Given the description of an element on the screen output the (x, y) to click on. 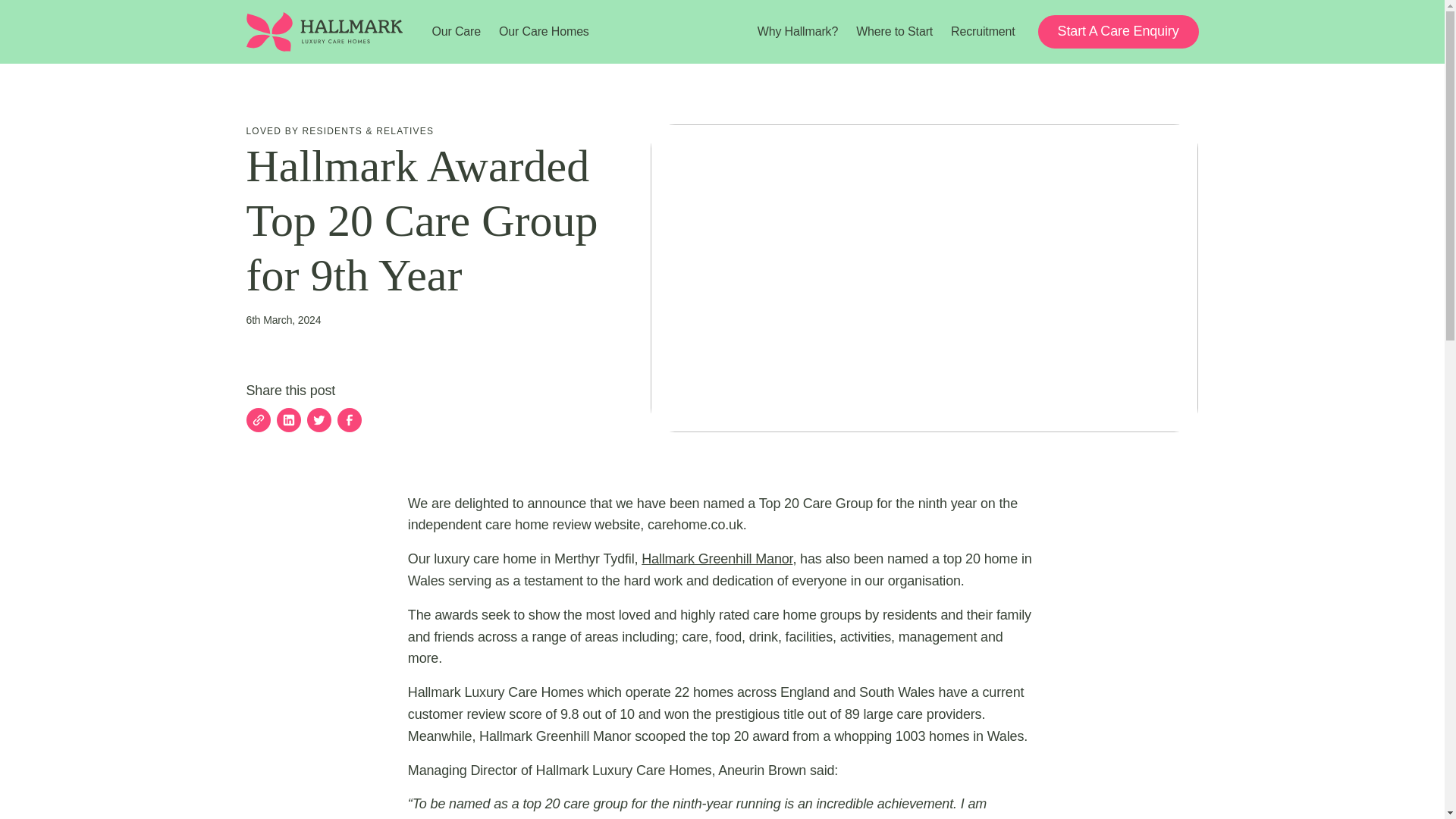
Why Hallmark? (797, 30)
Where to Start (894, 30)
Hallmark Home (324, 31)
Our Care (457, 30)
Our Care Homes (544, 30)
